Given the description of an element on the screen output the (x, y) to click on. 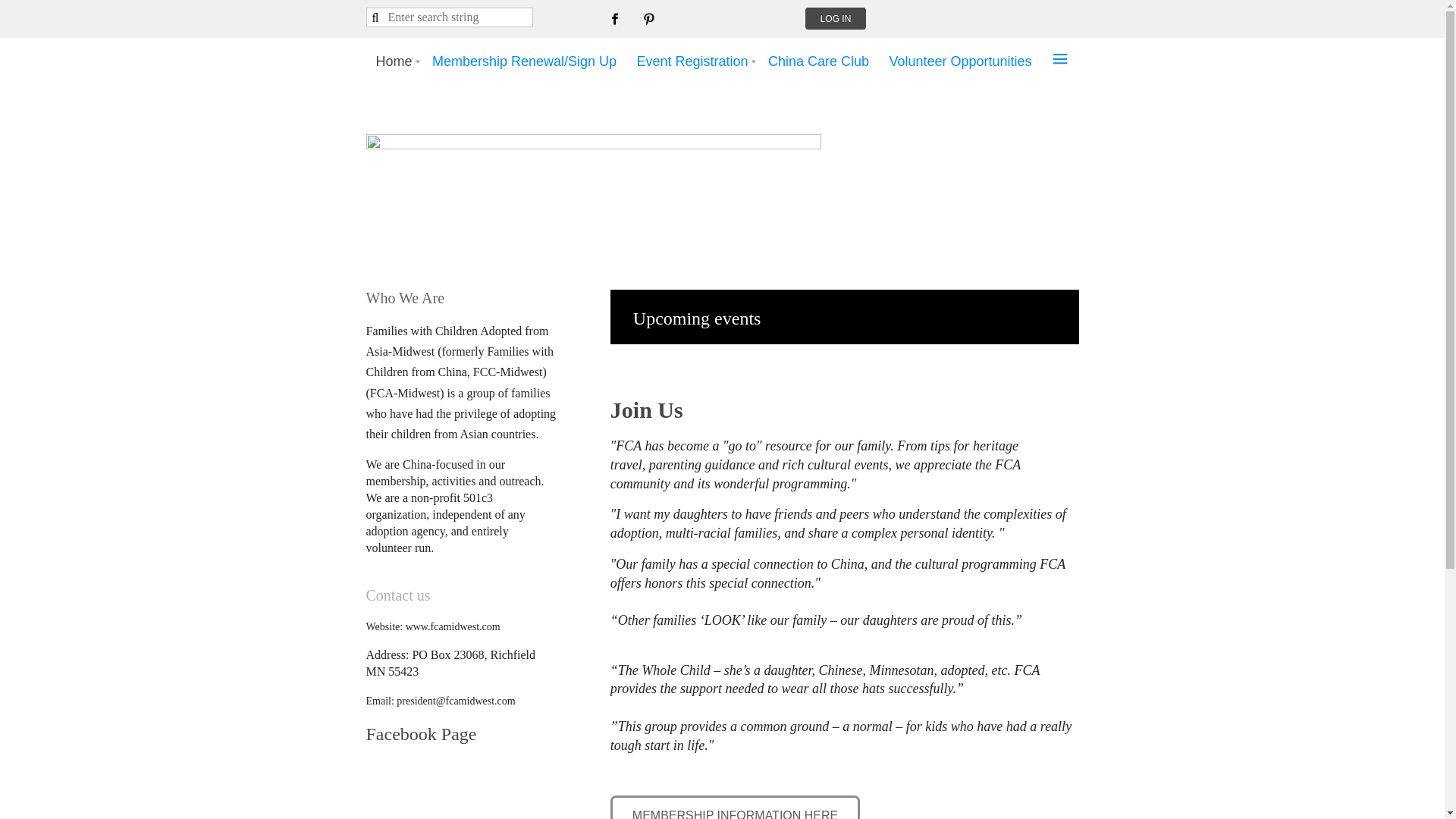
LOG IN (835, 18)
Facebook (615, 18)
Volunteer Opportunities (960, 61)
Event Registration (691, 61)
Home (393, 61)
Home (393, 61)
China Care Club (818, 61)
MEMBERSHIP INFORMATION HERE (735, 807)
China Care Club (818, 61)
Pinterest (648, 18)
Event Registration (691, 61)
Volunteer Opportunities (960, 61)
